Given the description of an element on the screen output the (x, y) to click on. 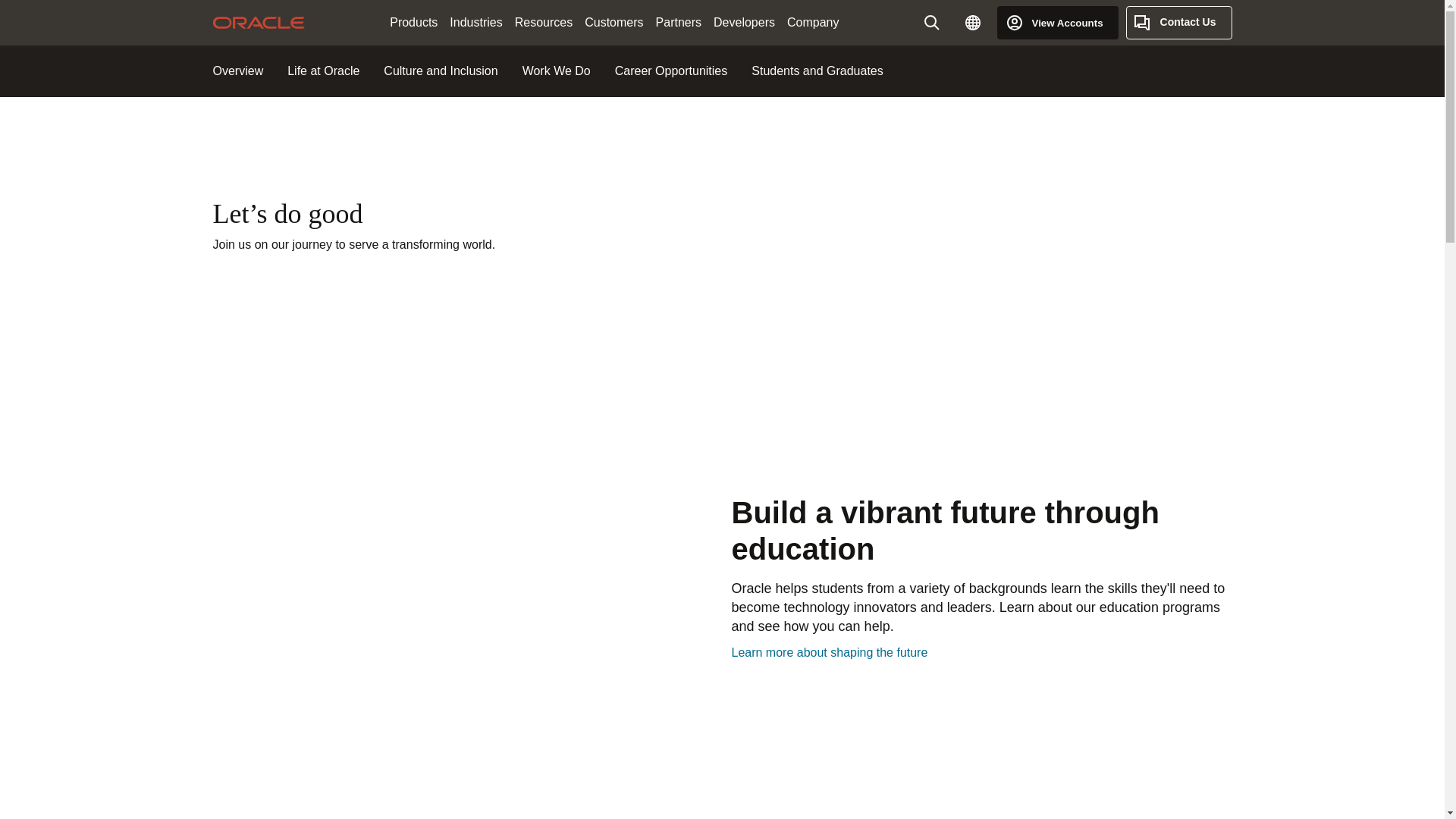
Industries (476, 22)
View Accounts (1057, 22)
Country (973, 22)
Contact Us (1178, 22)
Overview (237, 71)
Company (812, 22)
Products (414, 22)
Partners (678, 22)
Customers (613, 22)
Developers (743, 22)
